Given the description of an element on the screen output the (x, y) to click on. 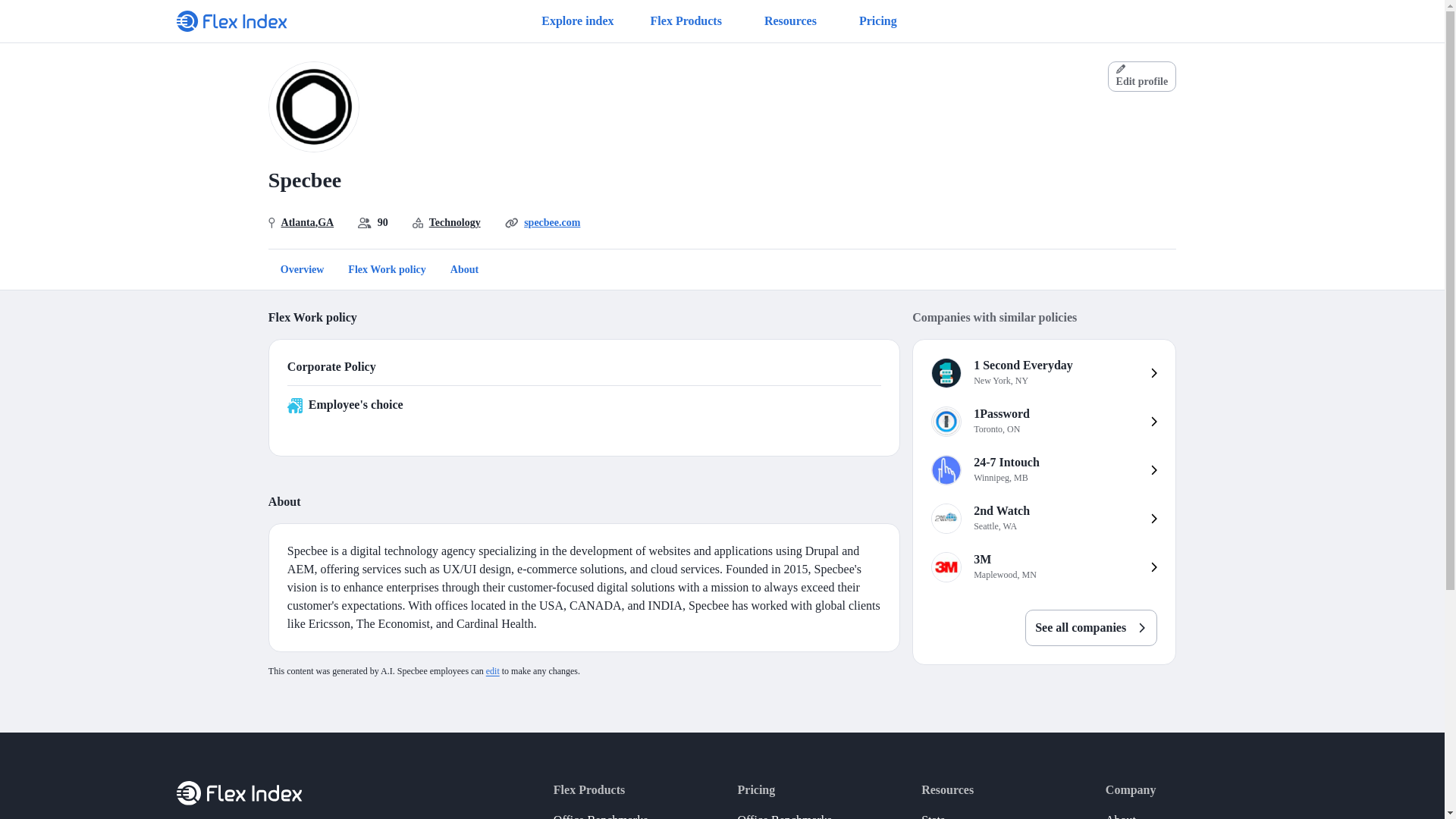
edit (1043, 421)
See all companies (492, 670)
GA (1091, 618)
Explore index (325, 222)
Technology (576, 21)
Atlanta (454, 222)
Office Benchmarks (1043, 372)
specbee.com (298, 222)
Edit profile (1043, 469)
Office Benchmarks (784, 812)
